Given the description of an element on the screen output the (x, y) to click on. 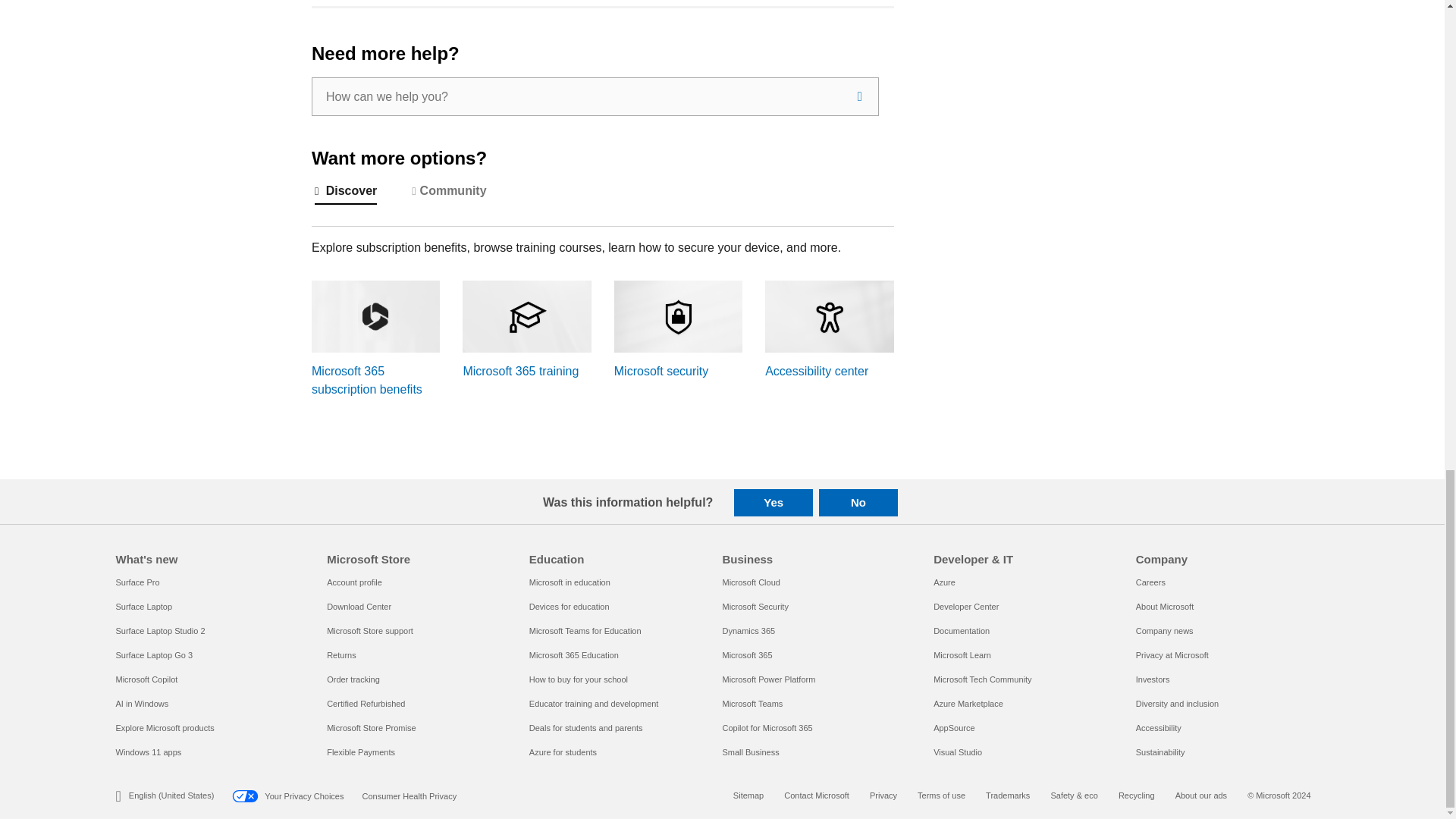
Search (860, 96)
